Given the description of an element on the screen output the (x, y) to click on. 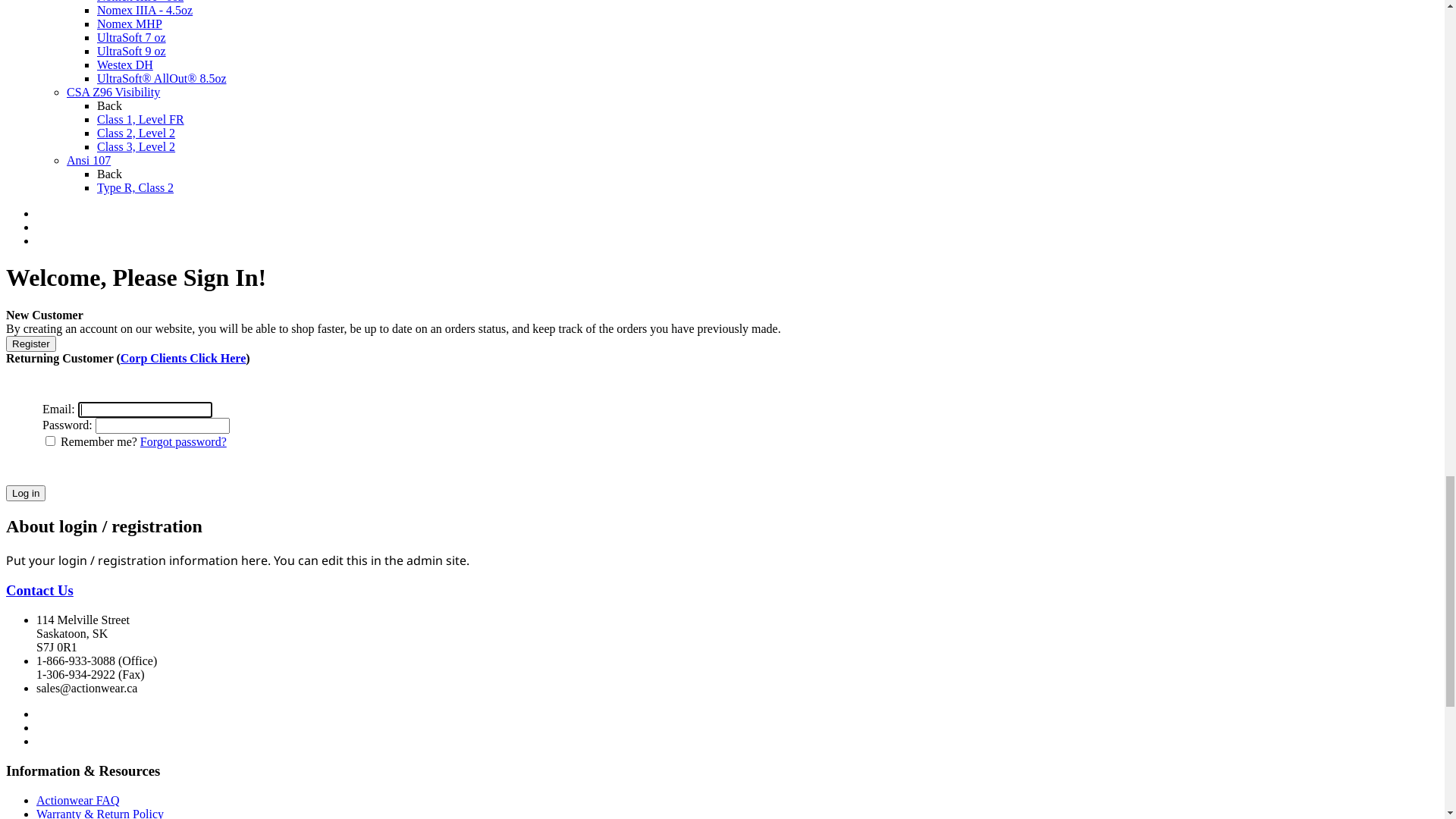
Arctic Element type: text (81, 708)
My Cart (0) Element type: text (36, 184)
Pants Element type: text (79, 654)
Forestry Element type: text (86, 722)
Parkas Element type: text (82, 476)
Jackets & Vests Element type: text (74, 395)
Shirts Element type: text (80, 640)
Arc Flash Element type: text (90, 763)
Winter Lined Element type: text (129, 463)
Specialty Garments Element type: text (83, 681)
Search Element type: text (165, 223)
Shirts & Pants Element type: text (71, 613)
Unlined Element type: text (86, 367)
Jackets Element type: text (83, 422)
Unlined Element type: text (86, 586)
Vests Element type: text (79, 490)
Summer Lined Element type: text (133, 449)
Lined Element type: text (80, 599)
Register Element type: text (63, 51)
Lined Element type: text (80, 381)
Coveralls Element type: text (59, 340)
Log in Element type: text (59, 37)
Bib Pants Element type: text (59, 558)
PPE Cat 2 Element type: text (122, 804)
Product Categories Element type: text (82, 736)
ActionStore Element type: hover (41, 171)
Fleece Element type: text (82, 545)
Wishlist 0 Element type: text (30, 77)
Winter Lined Vests Element type: text (143, 531)
Total: $0.00 Element type: text (95, 184)
Head Gear Element type: text (62, 668)
My account Element type: text (34, 12)
Summer Lined Vests Element type: text (147, 517)
PPE Cat 1 Element type: text (122, 790)
